Given the description of an element on the screen output the (x, y) to click on. 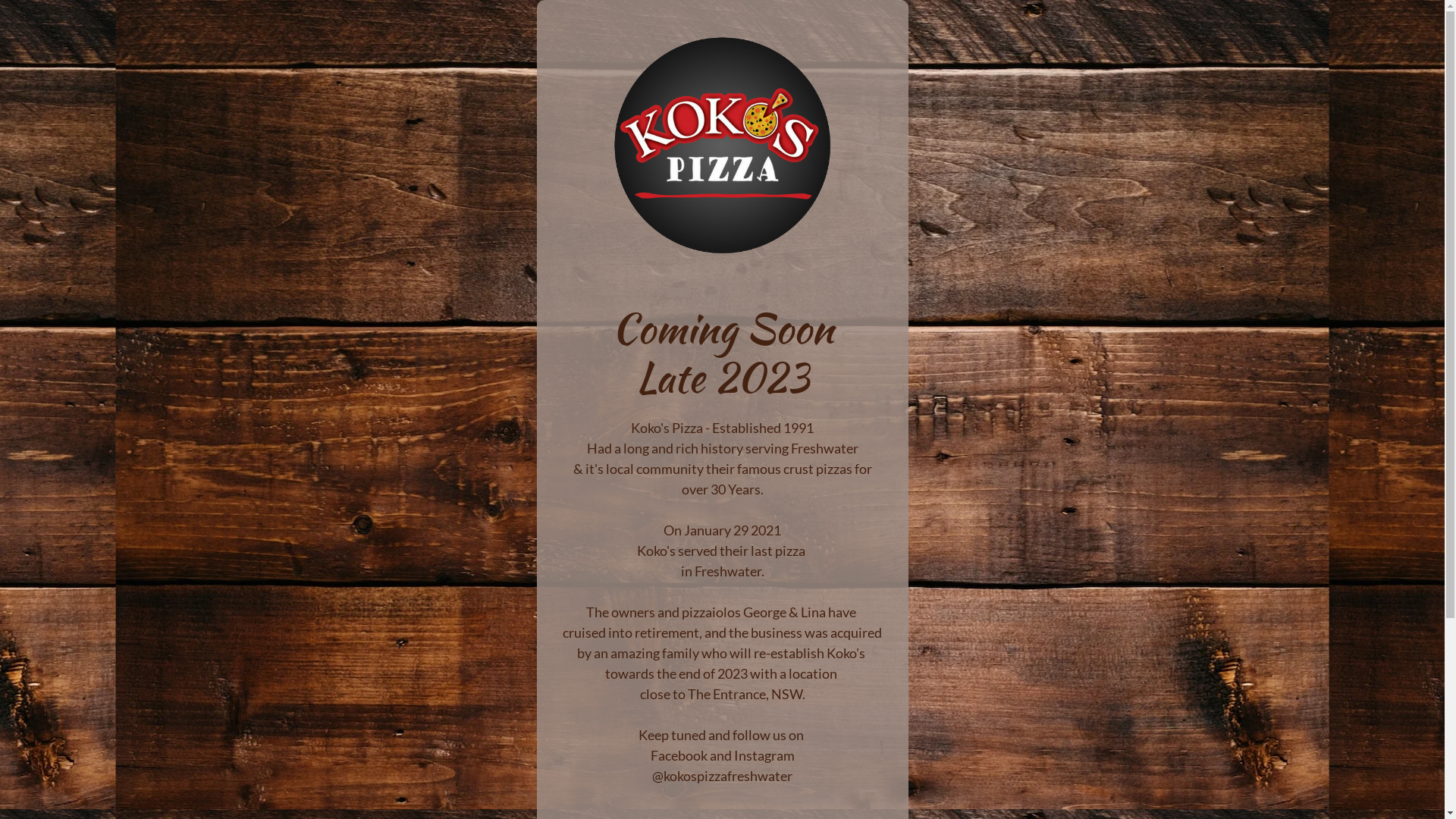
Facebook Element type: text (678, 754)
Instagram Element type: text (764, 754)
